Given the description of an element on the screen output the (x, y) to click on. 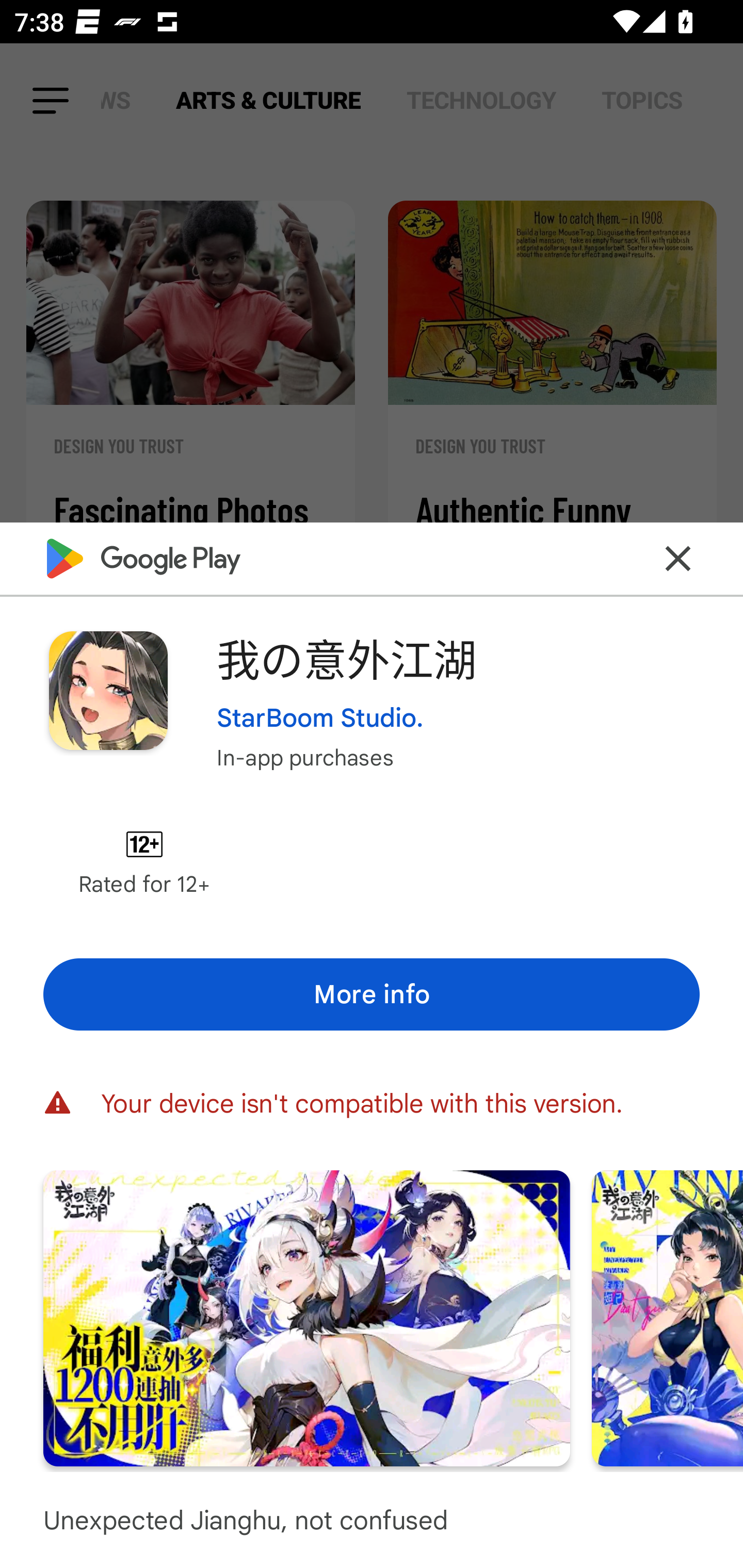
Close (677, 558)
Image of app or game icon for 我の意外江湖 (108, 690)
StarBoom Studio. (320, 716)
More info (371, 994)
Screenshot "1" of "5" (306, 1317)
